Given the description of an element on the screen output the (x, y) to click on. 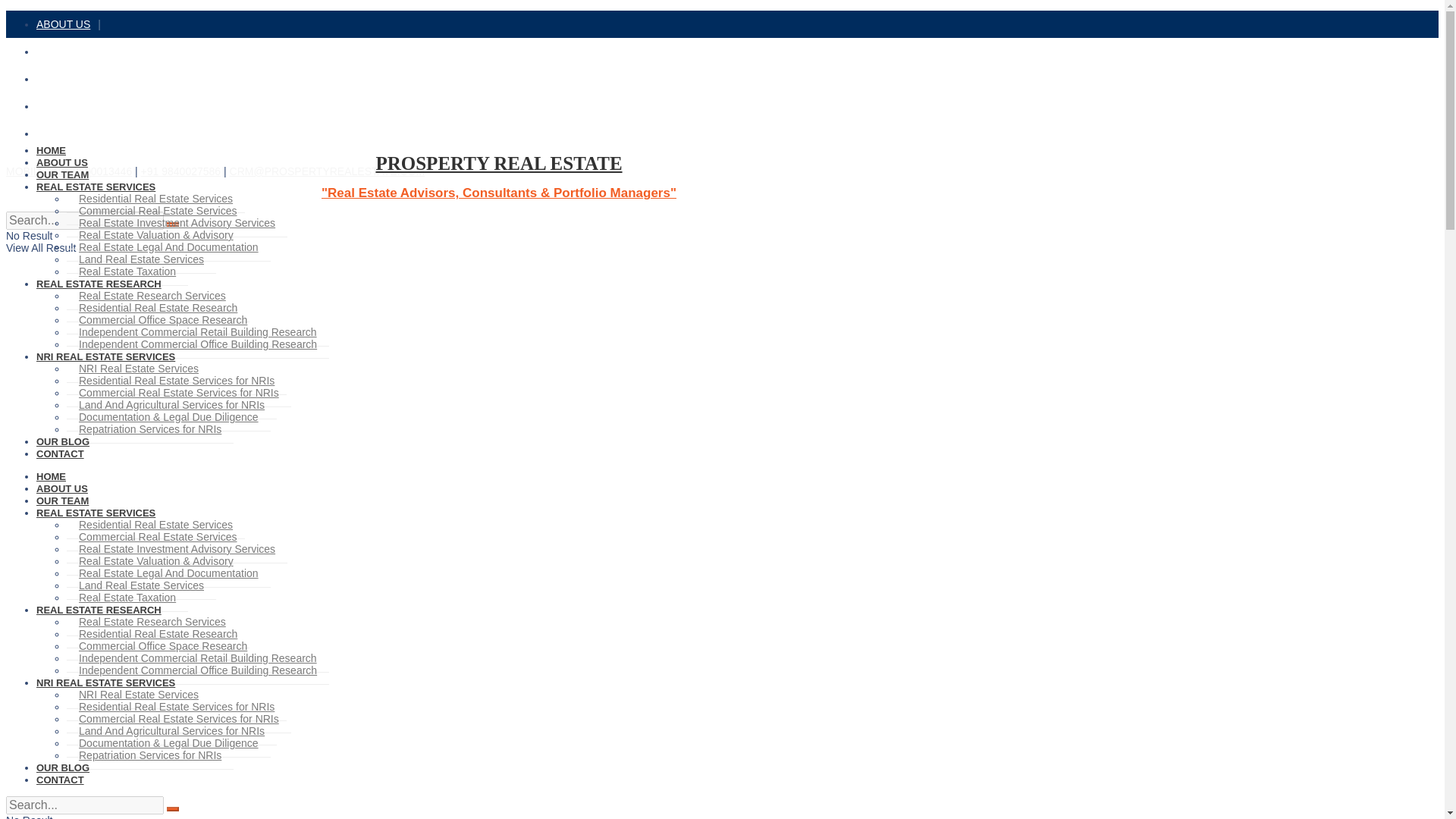
NRI REAL ESTATE SERVICES (105, 356)
Residential Real Estate Research (157, 308)
Commercial Real Estate Services (157, 211)
OUR BLOG (62, 441)
REAL ESTATE RESEARCH (98, 283)
CONTACT (60, 453)
ABOUT US (61, 162)
NRI Real Estate Services (138, 368)
Commercial Office Space Research (162, 320)
Residential Real Estate Services (155, 198)
Independent Commercial Office Building Research (197, 344)
HOME (50, 476)
Real Estate Investment Advisory Services (176, 223)
Real Estate Research Services (152, 295)
Residential Real Estate Services for NRIs (176, 380)
